Given the description of an element on the screen output the (x, y) to click on. 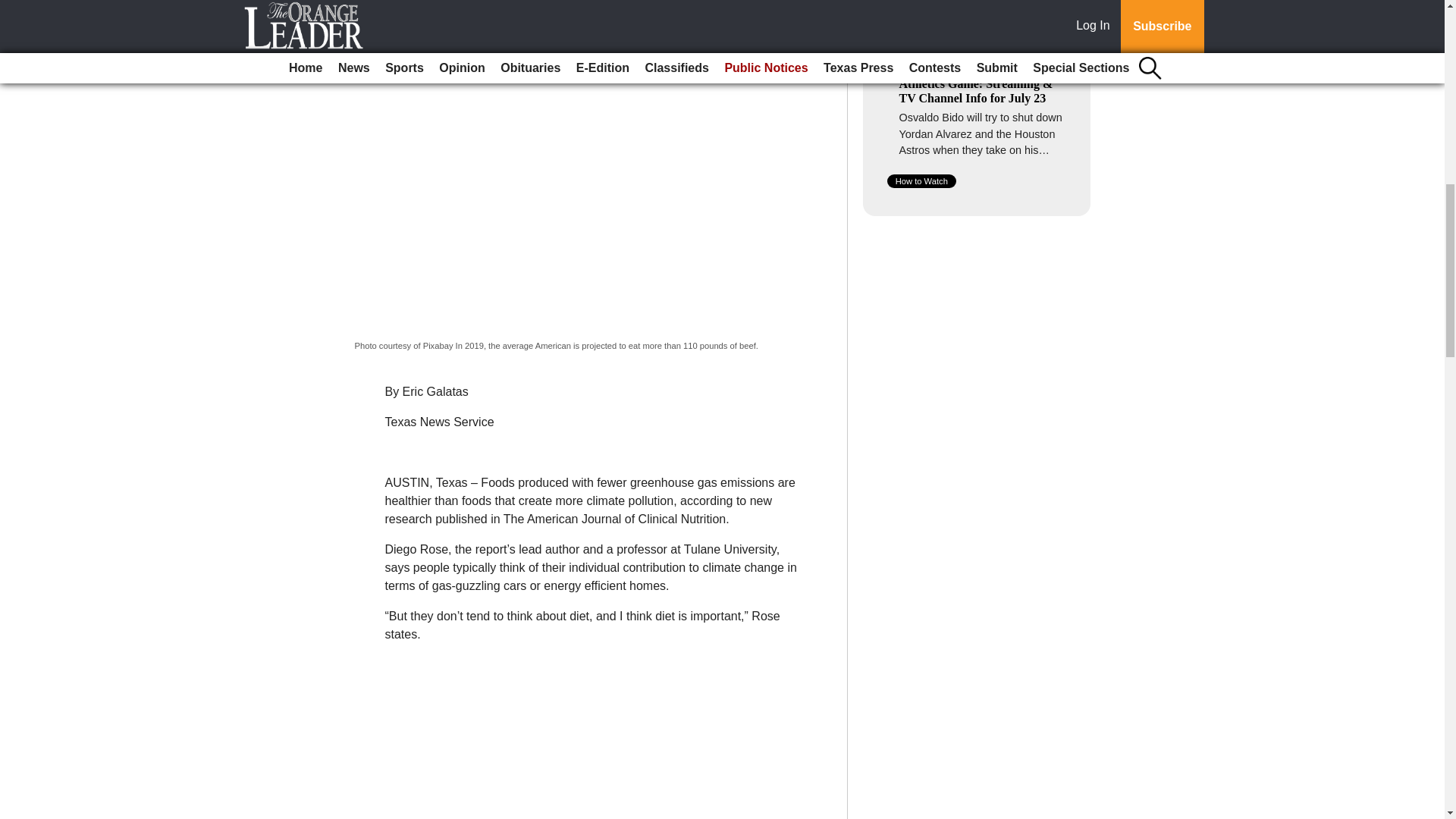
How to Watch (921, 181)
